Given the description of an element on the screen output the (x, y) to click on. 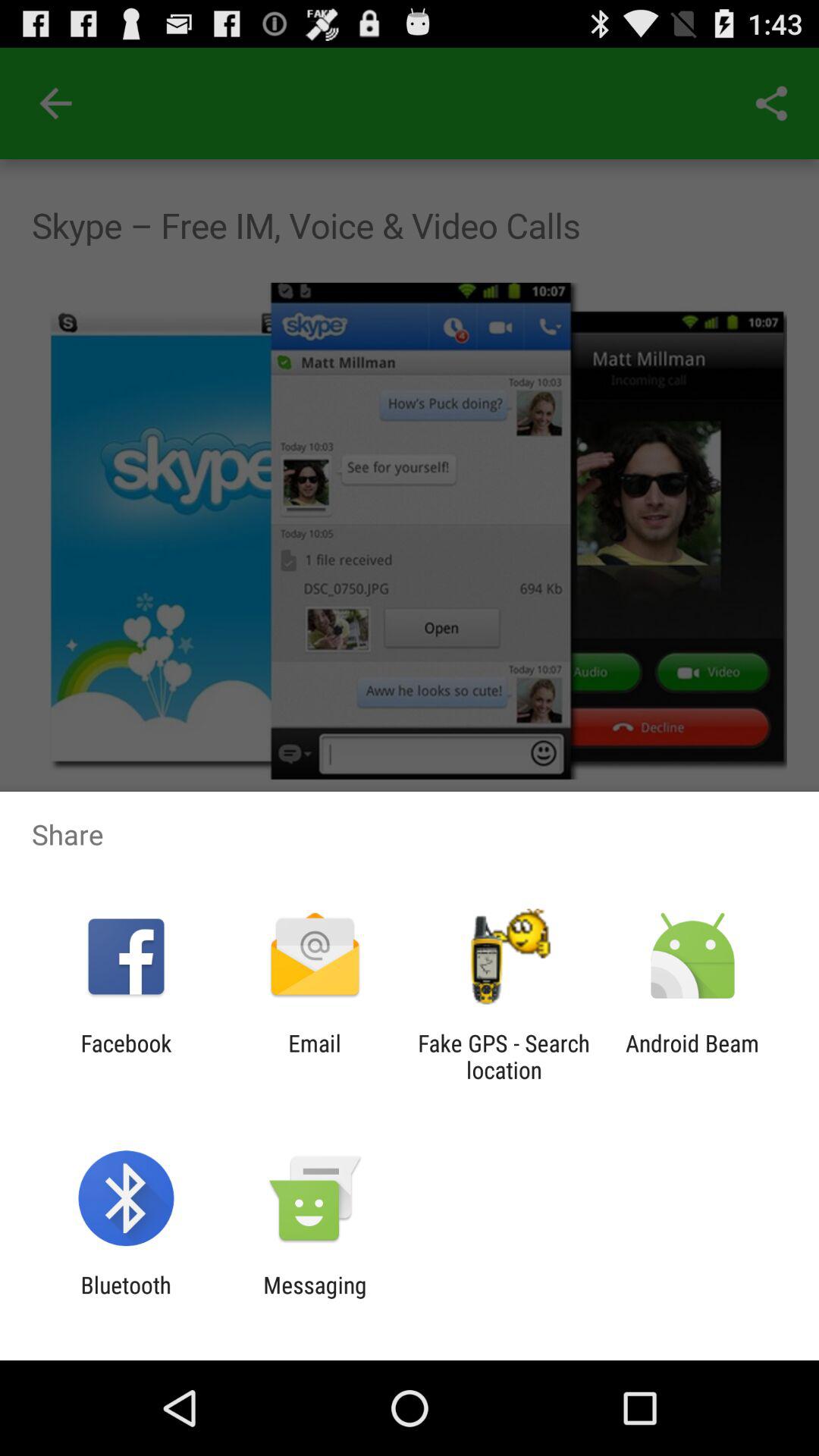
jump until the fake gps search (503, 1056)
